Given the description of an element on the screen output the (x, y) to click on. 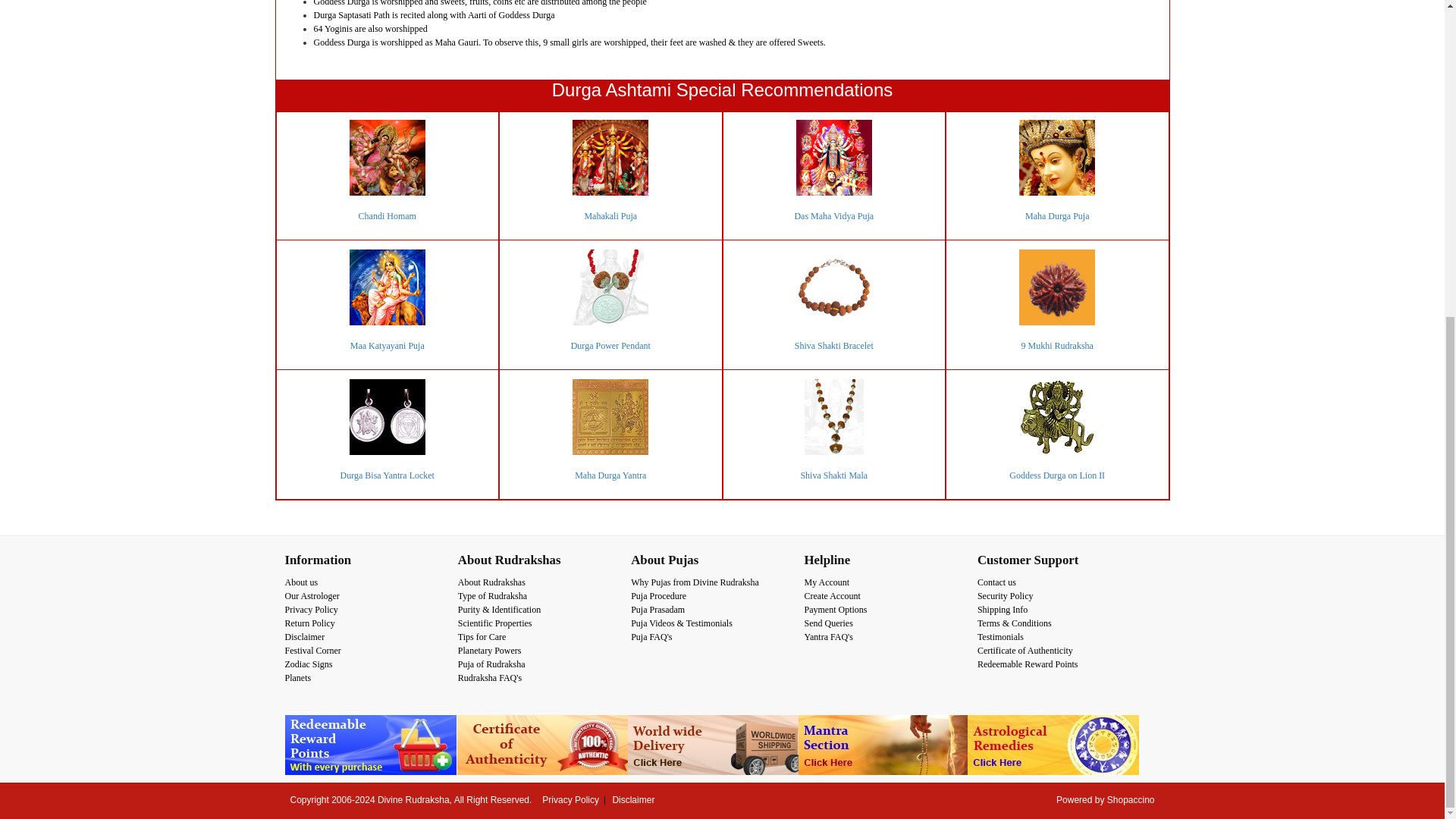
Shopaccino (1130, 799)
